Given the description of an element on the screen output the (x, y) to click on. 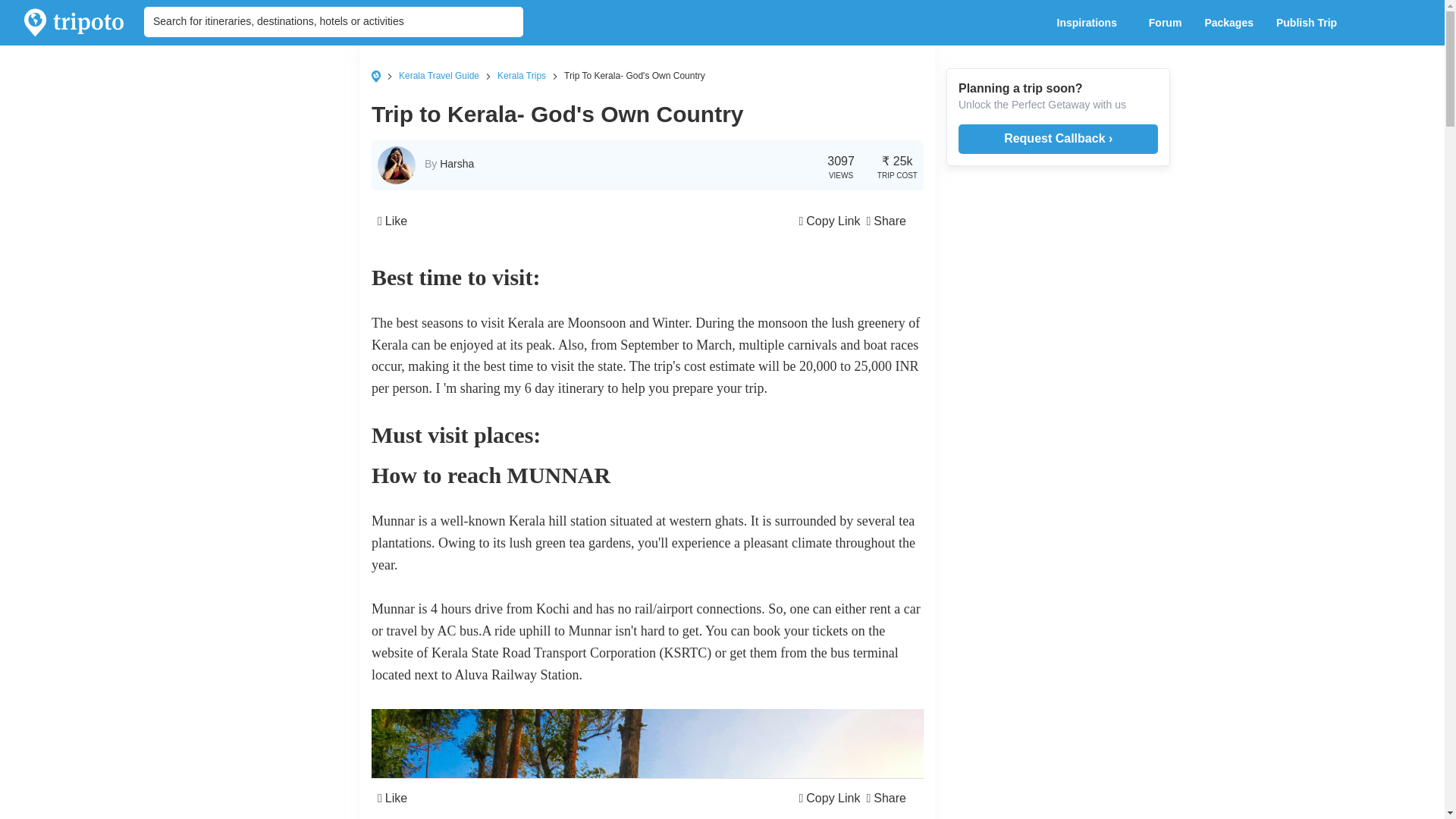
Publish Trip  (1310, 22)
Inspirations (1091, 22)
Publish Trip (1310, 22)
Inspirations (1091, 22)
Trip To Kerala- God's Own Country (634, 75)
Tripoto: India's Largest Community of Travellers (73, 22)
Forum (1165, 22)
Packages (1228, 22)
Kerala Trips (521, 75)
Forum (1165, 22)
